Given the description of an element on the screen output the (x, y) to click on. 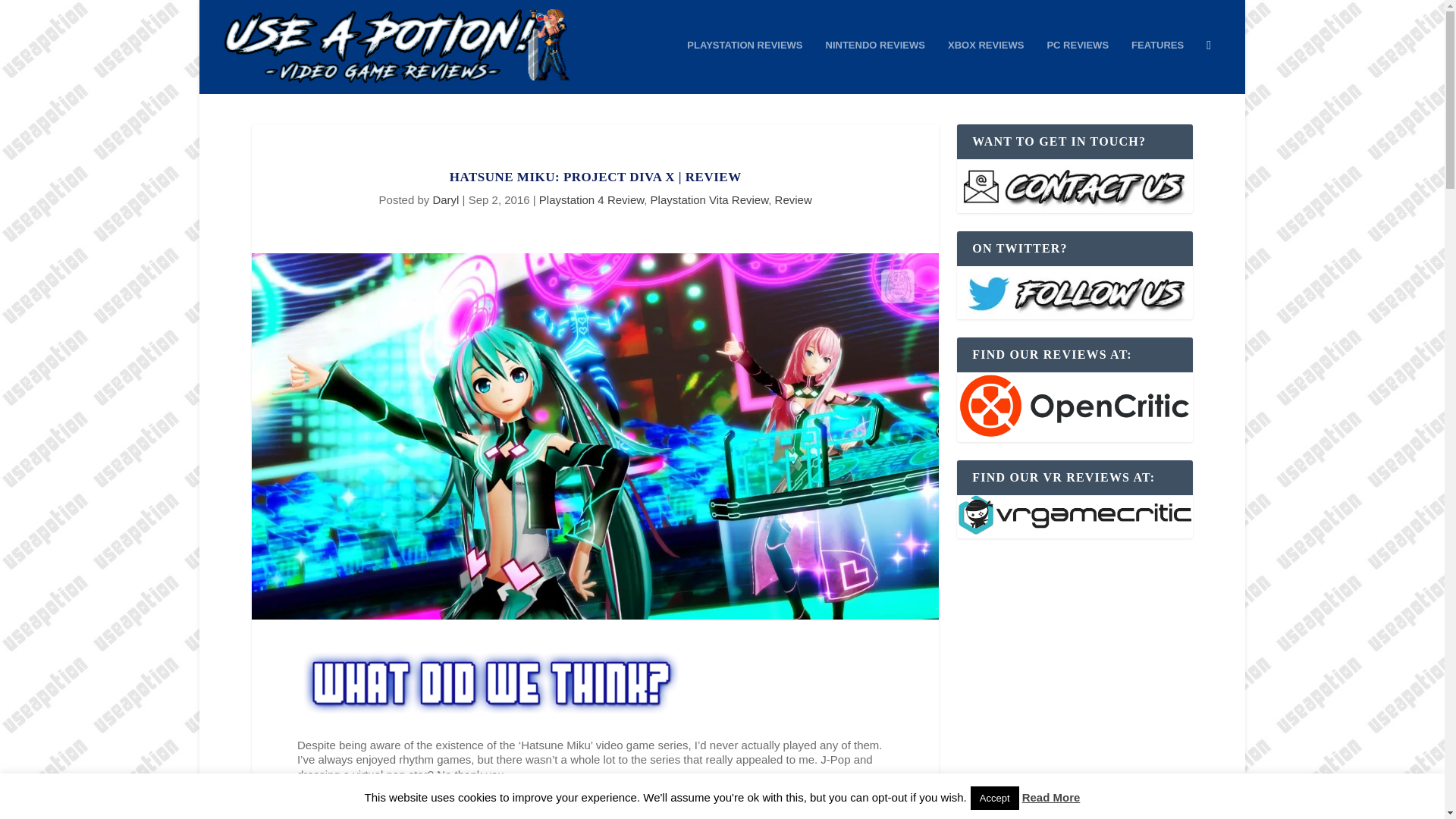
Playstation Vita Review (709, 199)
Accept (995, 797)
Review (793, 199)
PLAYSTATION REVIEWS (744, 66)
Daryl (445, 199)
Playstation 4 Review (590, 199)
NINTENDO REVIEWS (874, 66)
XBOX REVIEWS (985, 66)
Posts by Daryl (445, 199)
